Given the description of an element on the screen output the (x, y) to click on. 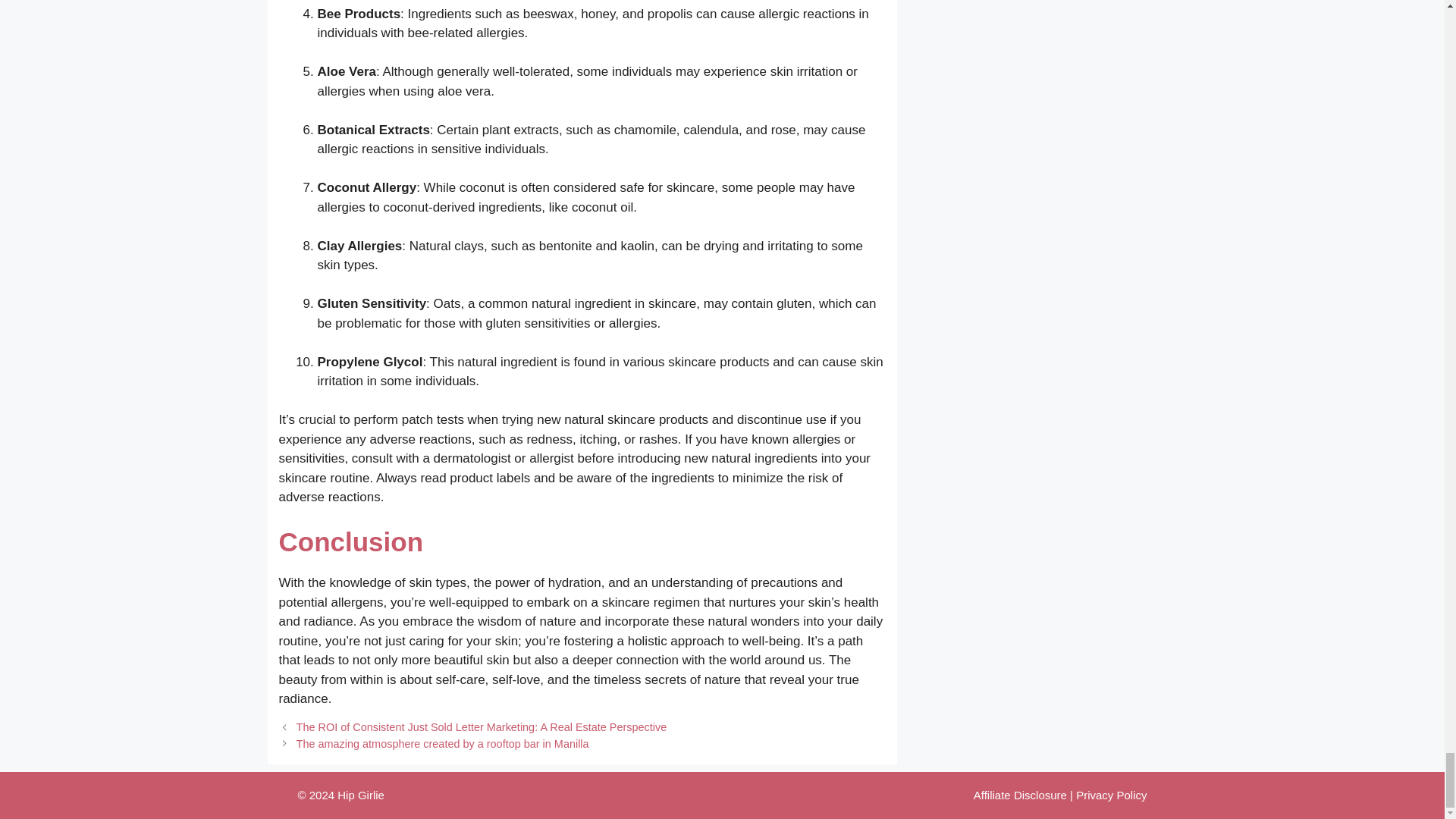
The amazing atmosphere created by a rooftop bar in Manilla (443, 743)
